Given the description of an element on the screen output the (x, y) to click on. 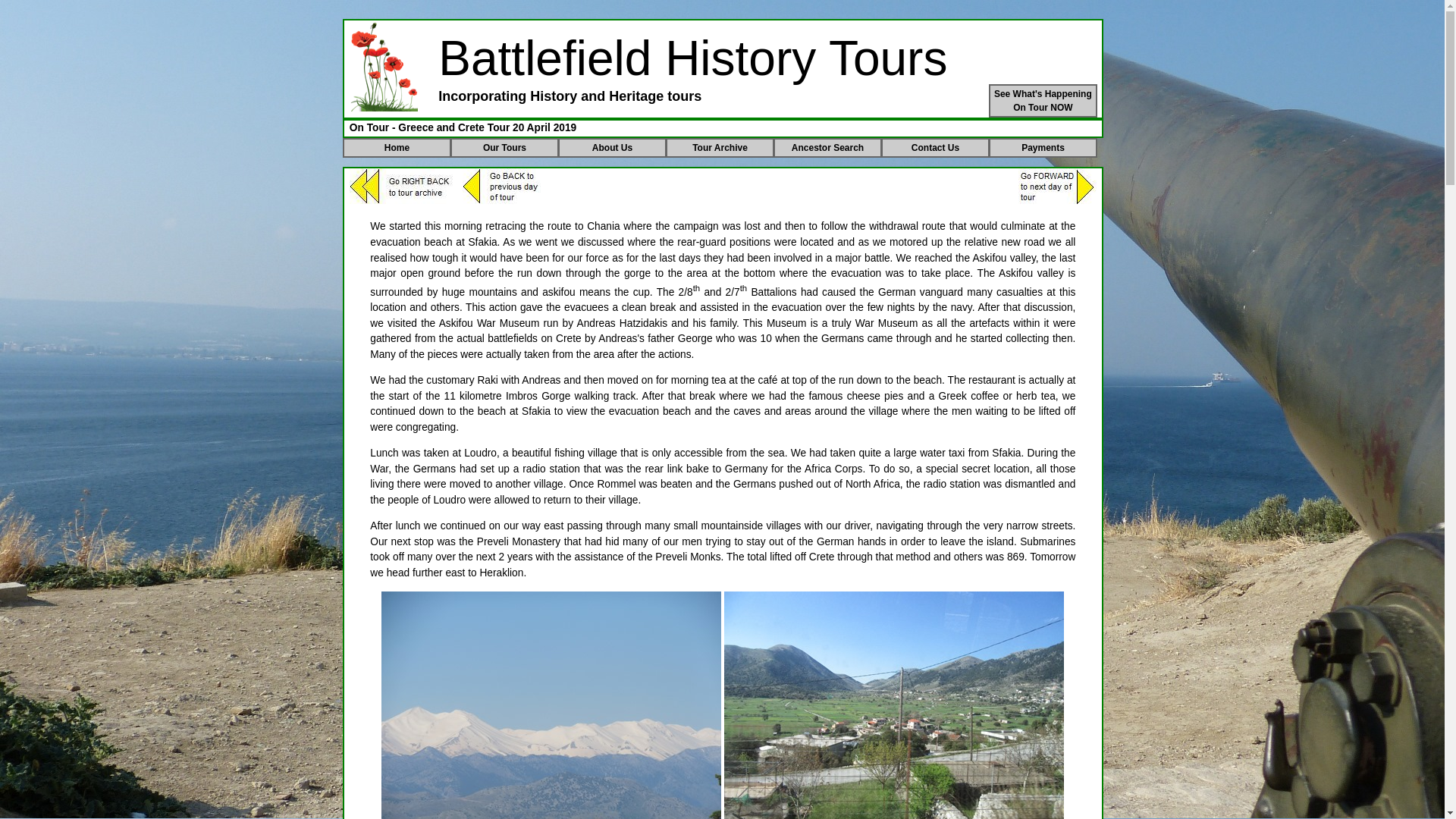
Ancestor Search (827, 148)
Payments (1042, 148)
Our Tours (504, 148)
Greece and Crete Tour 2019 (550, 705)
Back to Previous Day of Tour (501, 185)
Right Back to Tour (401, 185)
Greece and Crete Tour 2019 (1042, 100)
Home (893, 705)
Tour Archive (396, 148)
